Given the description of an element on the screen output the (x, y) to click on. 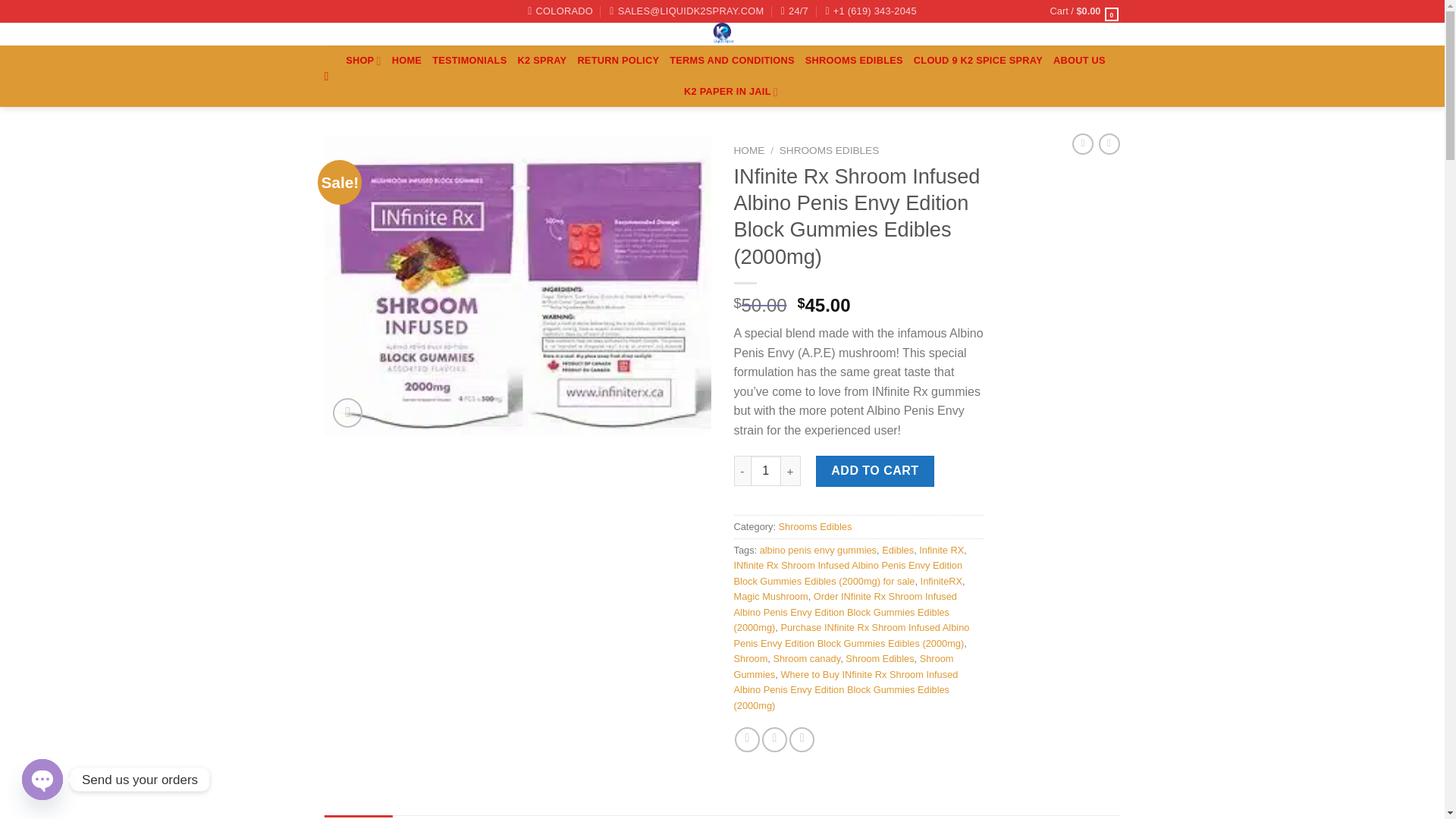
CLOUD 9 K2 SPICE SPRAY (978, 60)
Cart (1085, 11)
TESTIMONIALS (469, 60)
COLORADO (559, 11)
K2 SPRAY (541, 60)
TERMS AND CONDITIONS (731, 60)
RETURN POLICY (617, 60)
SHOP (363, 60)
1 (765, 470)
USA (559, 11)
HOME (406, 60)
Zoom (347, 412)
Share on Facebook (747, 739)
liquid k2 spray - Strongest K2 Spray For Sale (721, 33)
SHROOMS EDIBLES (853, 60)
